Given the description of an element on the screen output the (x, y) to click on. 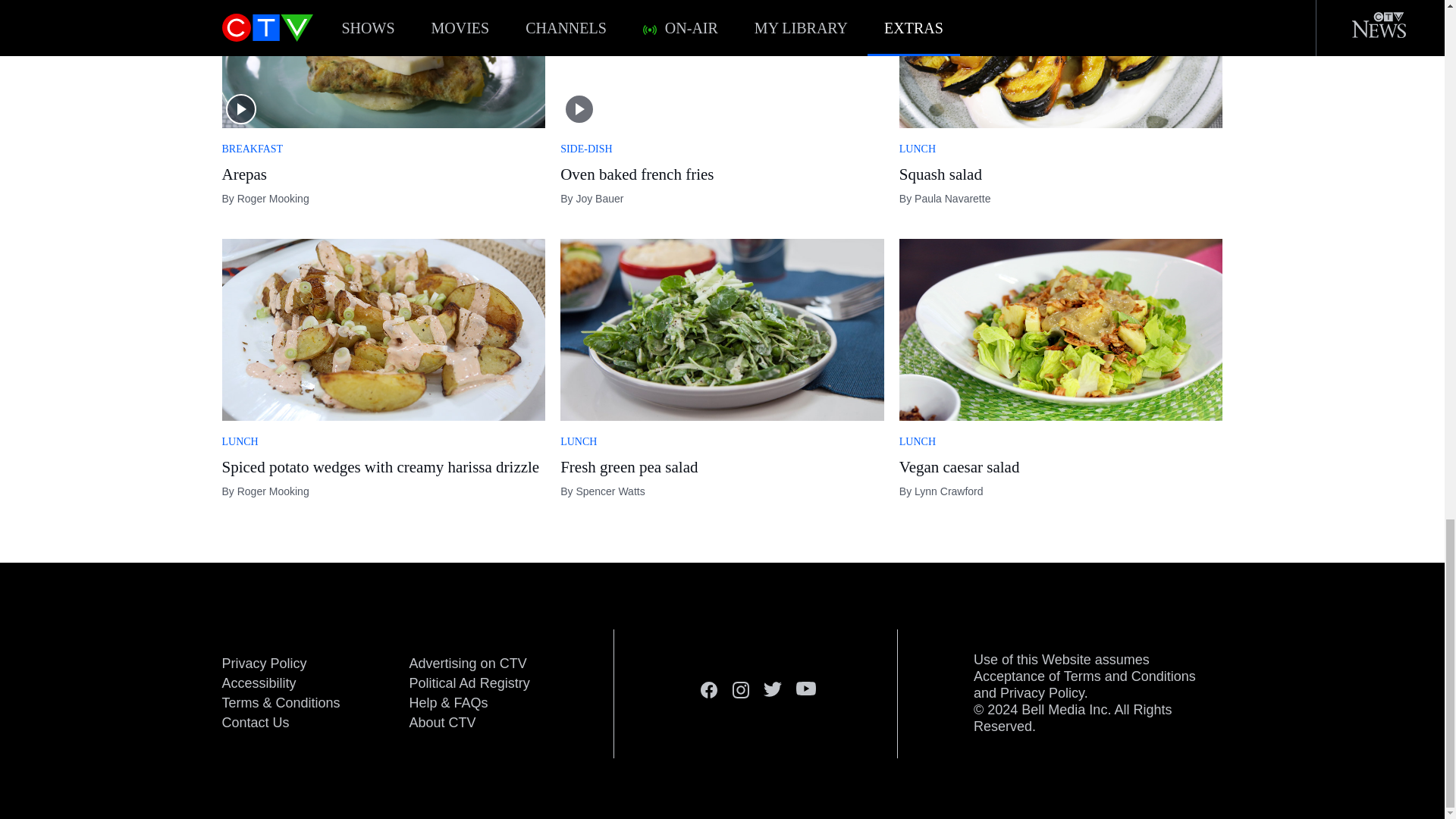
Facebook icon (708, 689)
Instagram icon (740, 689)
